Given the description of an element on the screen output the (x, y) to click on. 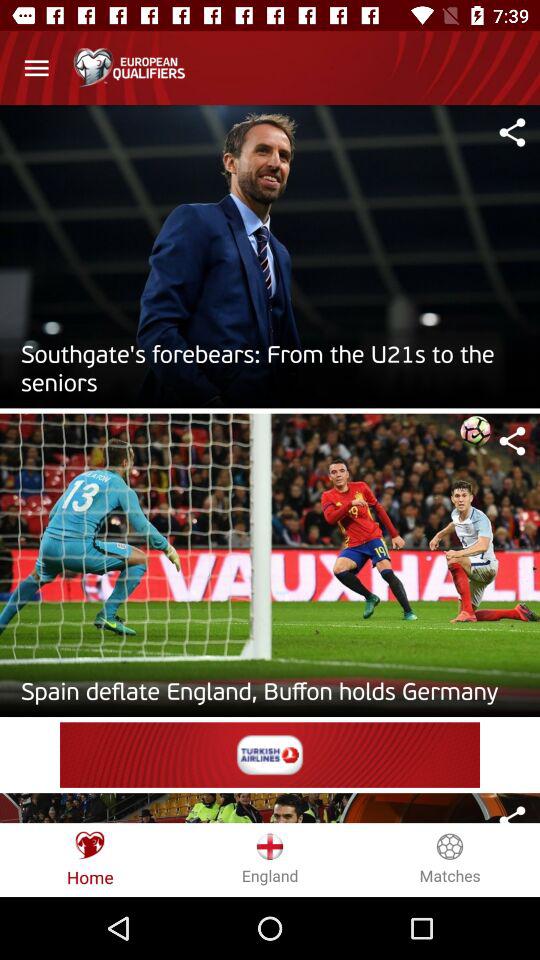
share the article (512, 441)
